Given the description of an element on the screen output the (x, y) to click on. 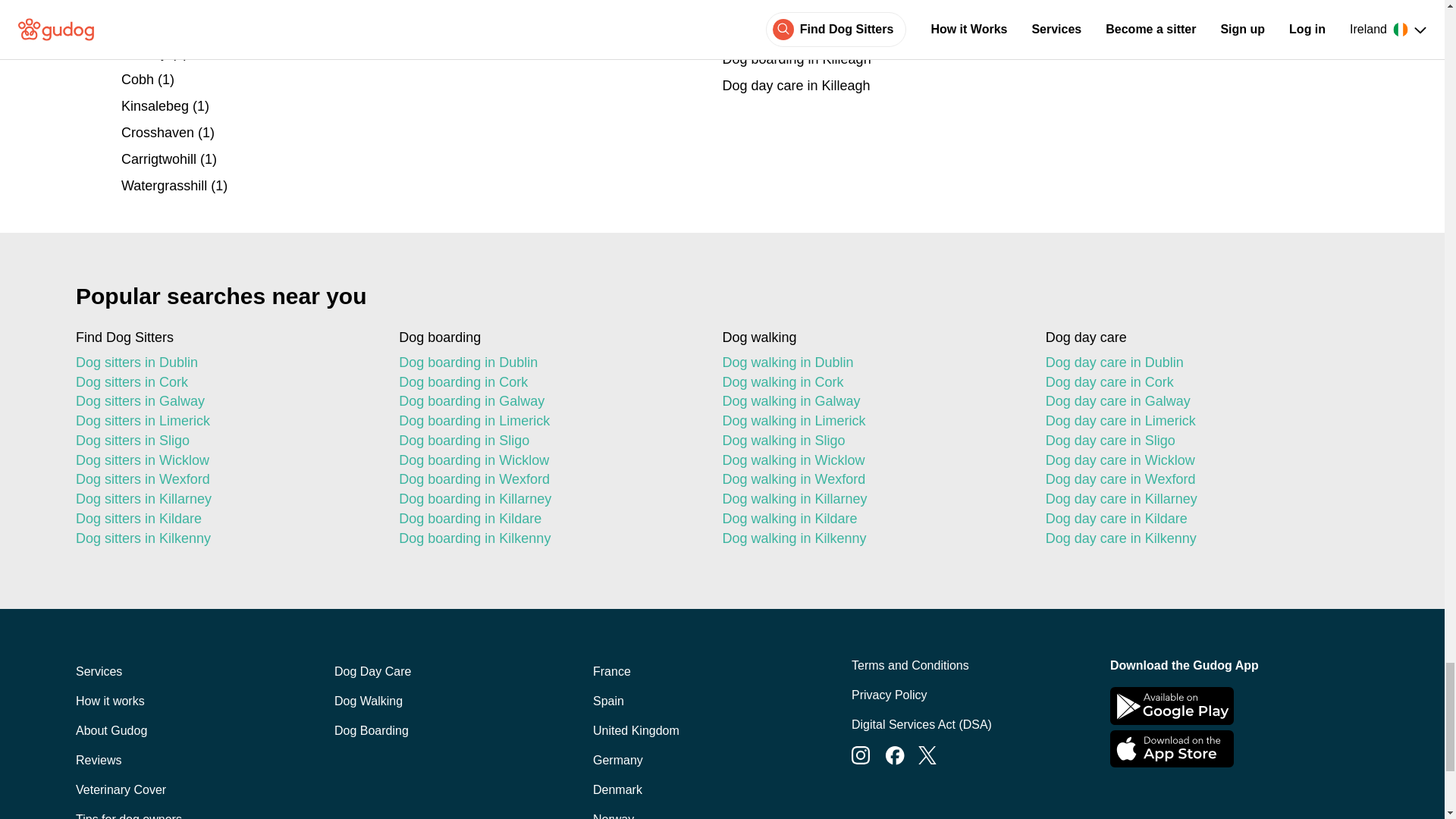
Dog Walking in Crosshaven (421, 132)
Dog boarding in Limerick (547, 421)
Dog sitters in Galway (224, 401)
Dog sitters in Wicklow (224, 460)
Dog sitters in Kildare (224, 519)
Dog boarding in Galway (547, 401)
Dog sitters in Limerick (224, 421)
Dog sitters in Cork (224, 383)
Dog sitters in Kilkenny (224, 538)
Dog sitters in Wexford (224, 479)
